Given the description of an element on the screen output the (x, y) to click on. 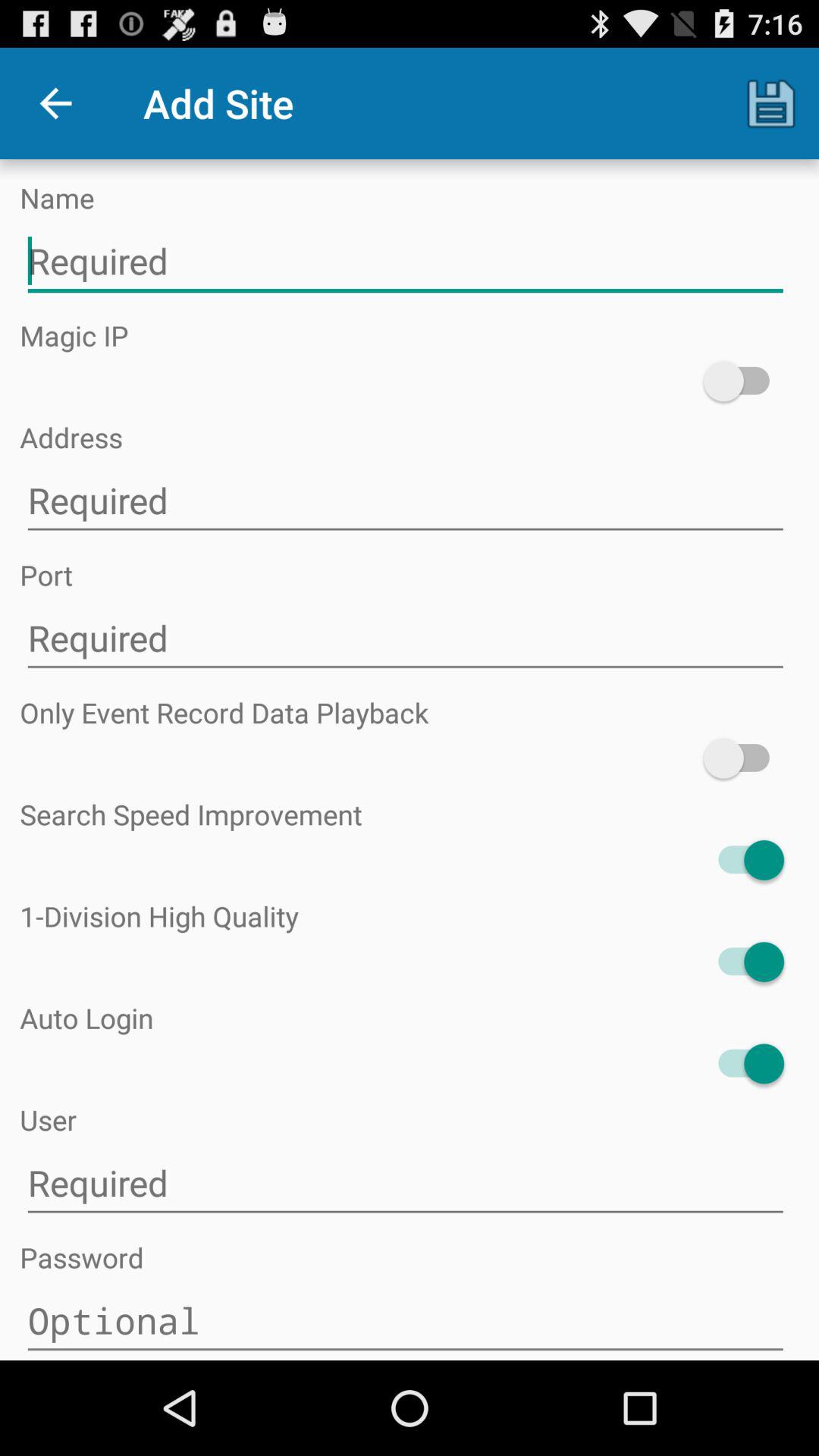
turn off the icon above the auto login icon (743, 962)
